Given the description of an element on the screen output the (x, y) to click on. 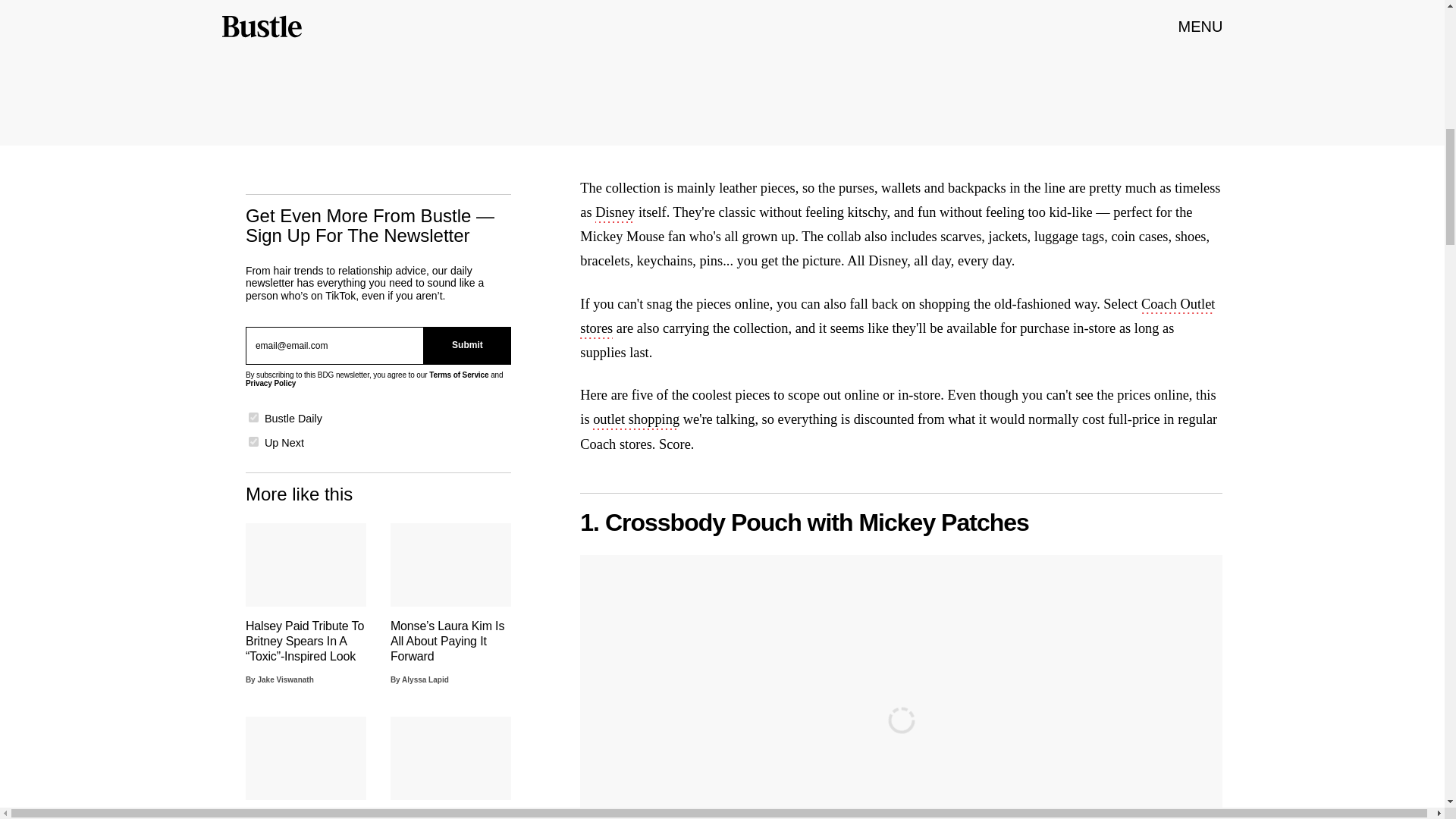
Privacy Policy (270, 383)
Disney (614, 213)
outlet shopping (635, 420)
Coach Outlet stores (896, 317)
Submit (467, 345)
Terms of Service (458, 375)
